Given the description of an element on the screen output the (x, y) to click on. 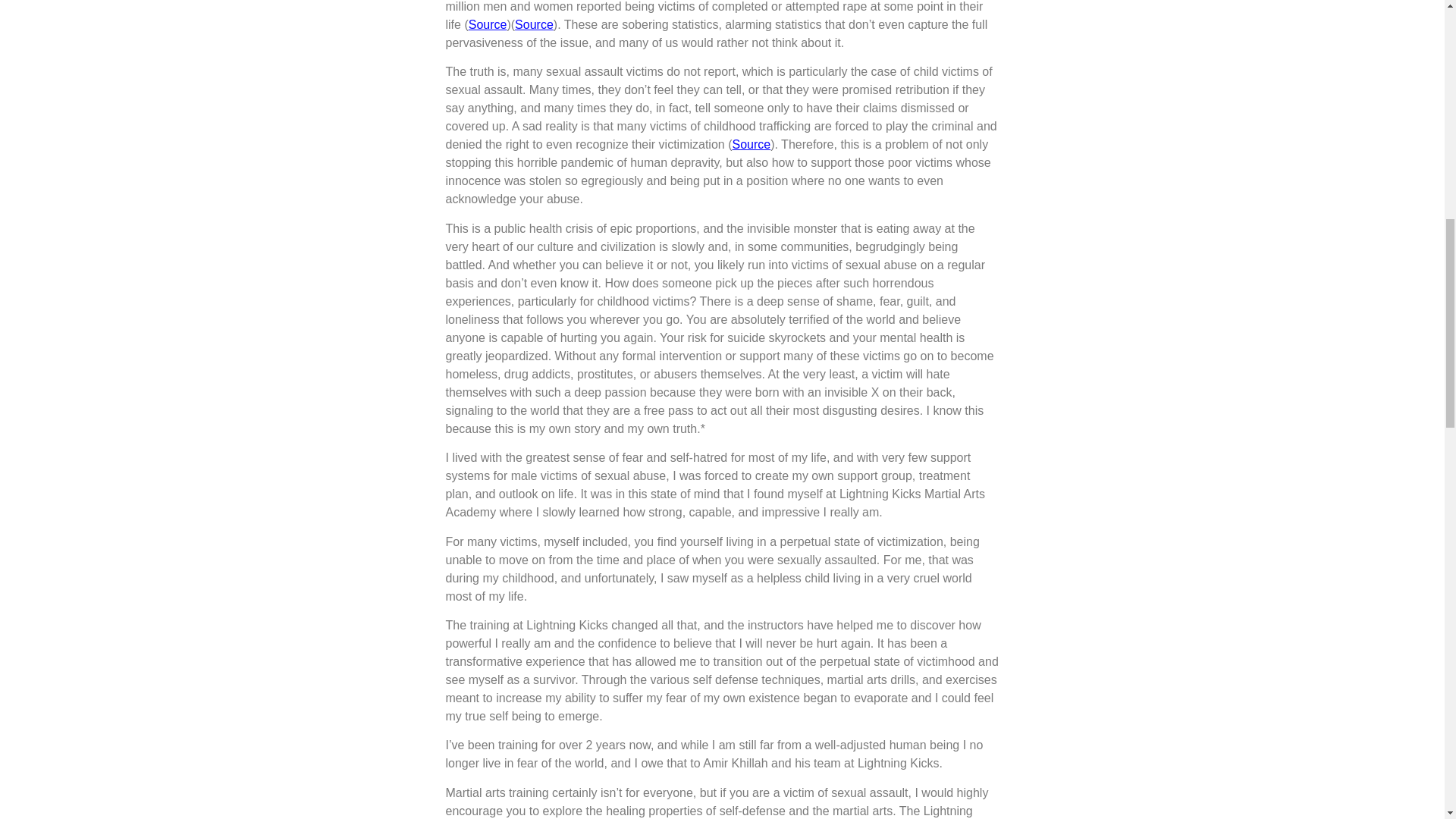
Source (534, 24)
Source (751, 144)
Source (487, 24)
